Given the description of an element on the screen output the (x, y) to click on. 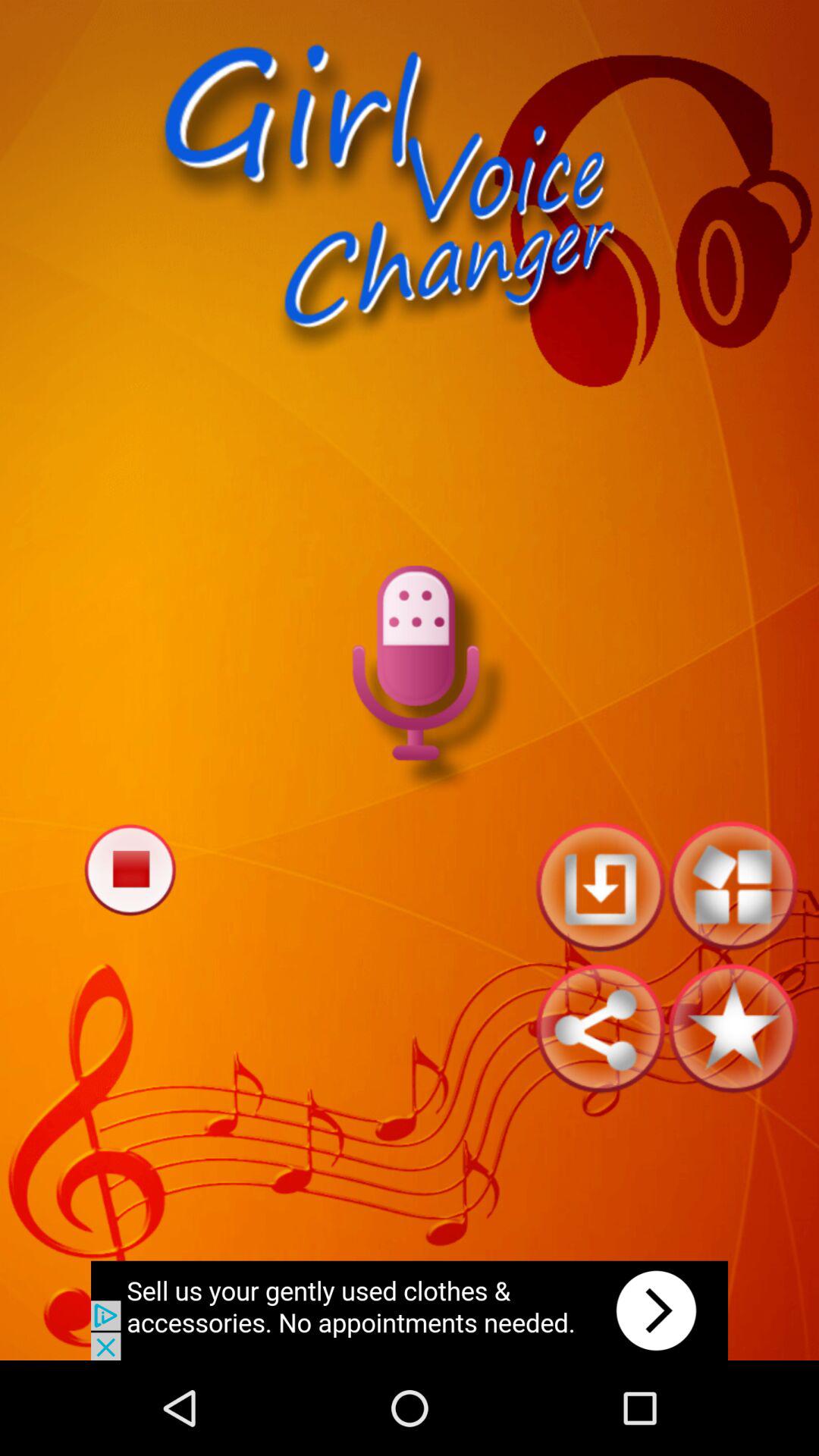
share to site (600, 1028)
